Given the description of an element on the screen output the (x, y) to click on. 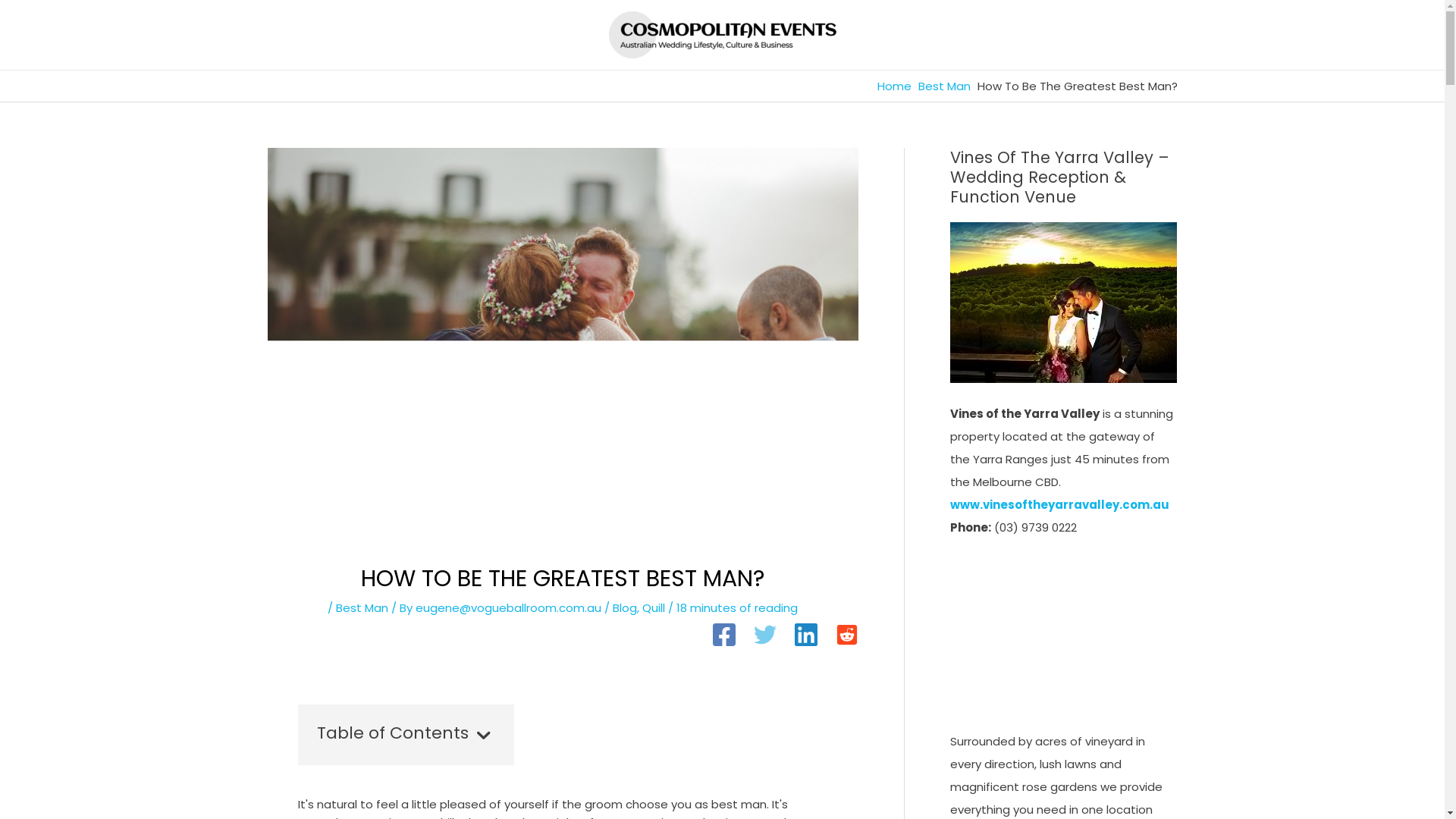
Blog Element type: text (624, 607)
Best Man Element type: text (361, 607)
eugene@vogueballroom.com.au Element type: text (509, 607)
www.vinesoftheyarravalley.com.au Element type: text (1058, 504)
Best Man Element type: text (943, 86)
Quill Element type: text (653, 607)
Home Element type: text (893, 86)
